Given the description of an element on the screen output the (x, y) to click on. 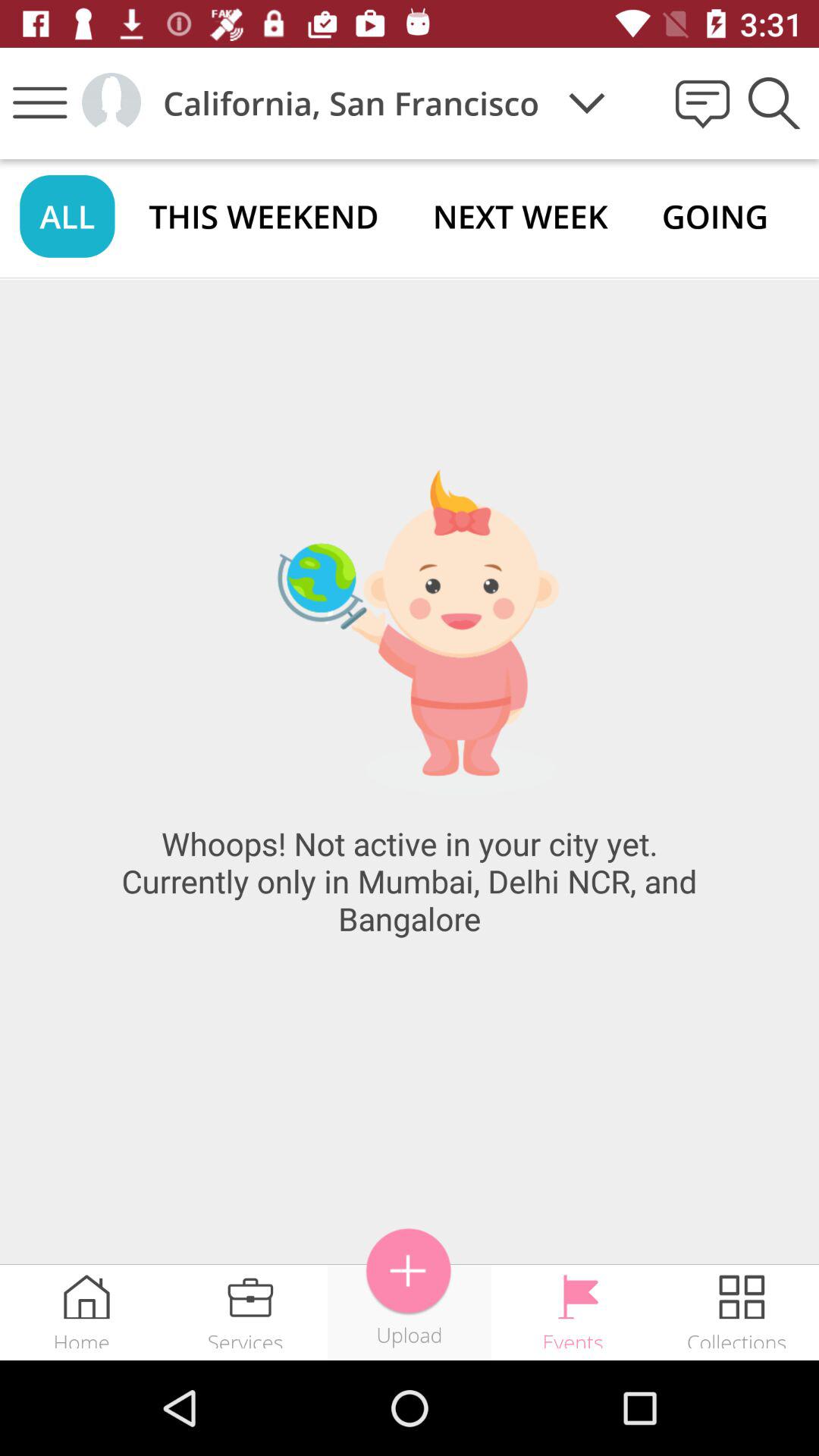
choose the item to the left of the this weekend (66, 216)
